Given the description of an element on the screen output the (x, y) to click on. 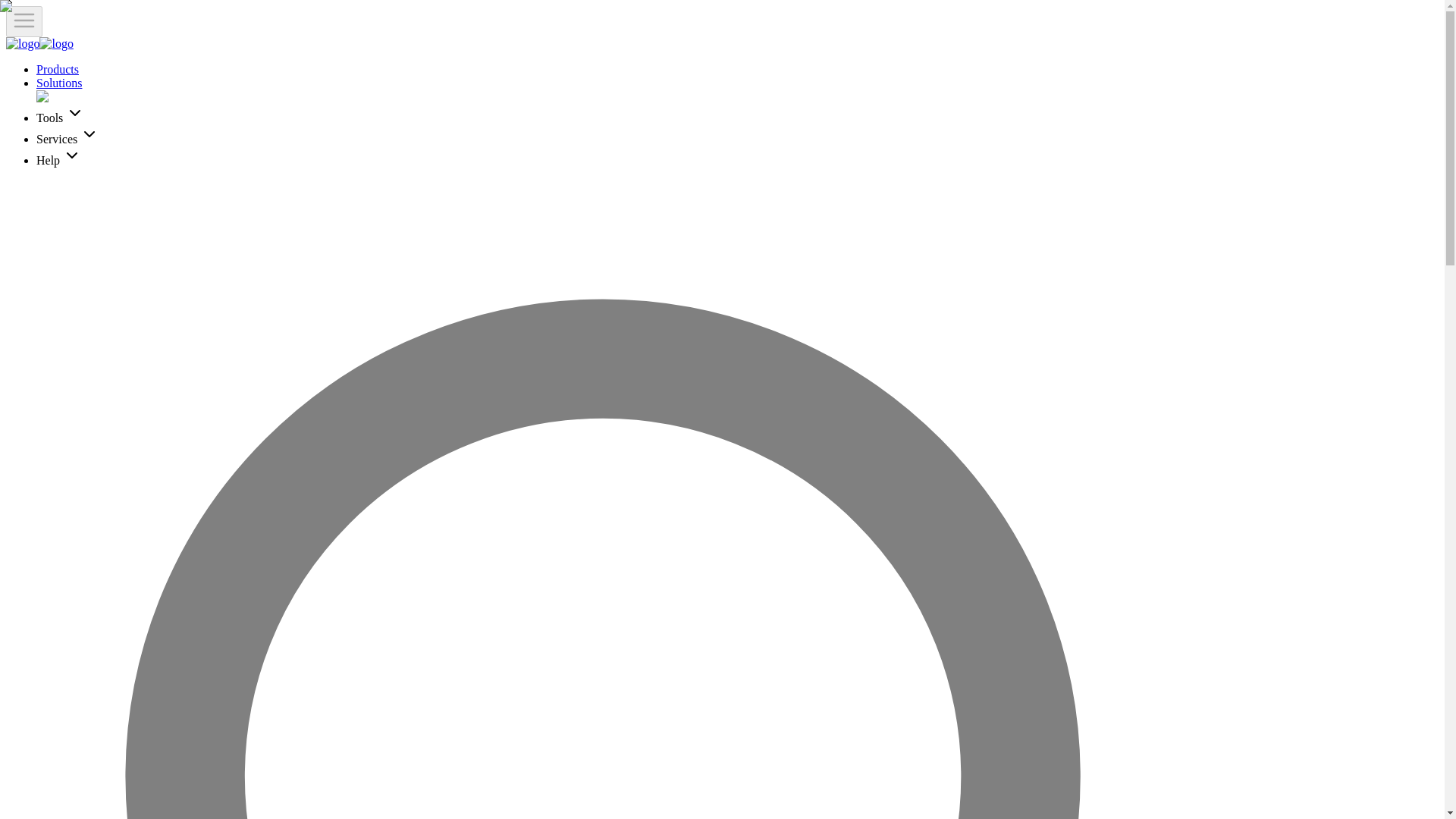
Services (67, 138)
Solutions (58, 82)
Help (58, 160)
Products (57, 69)
Tools (60, 117)
